Given the description of an element on the screen output the (x, y) to click on. 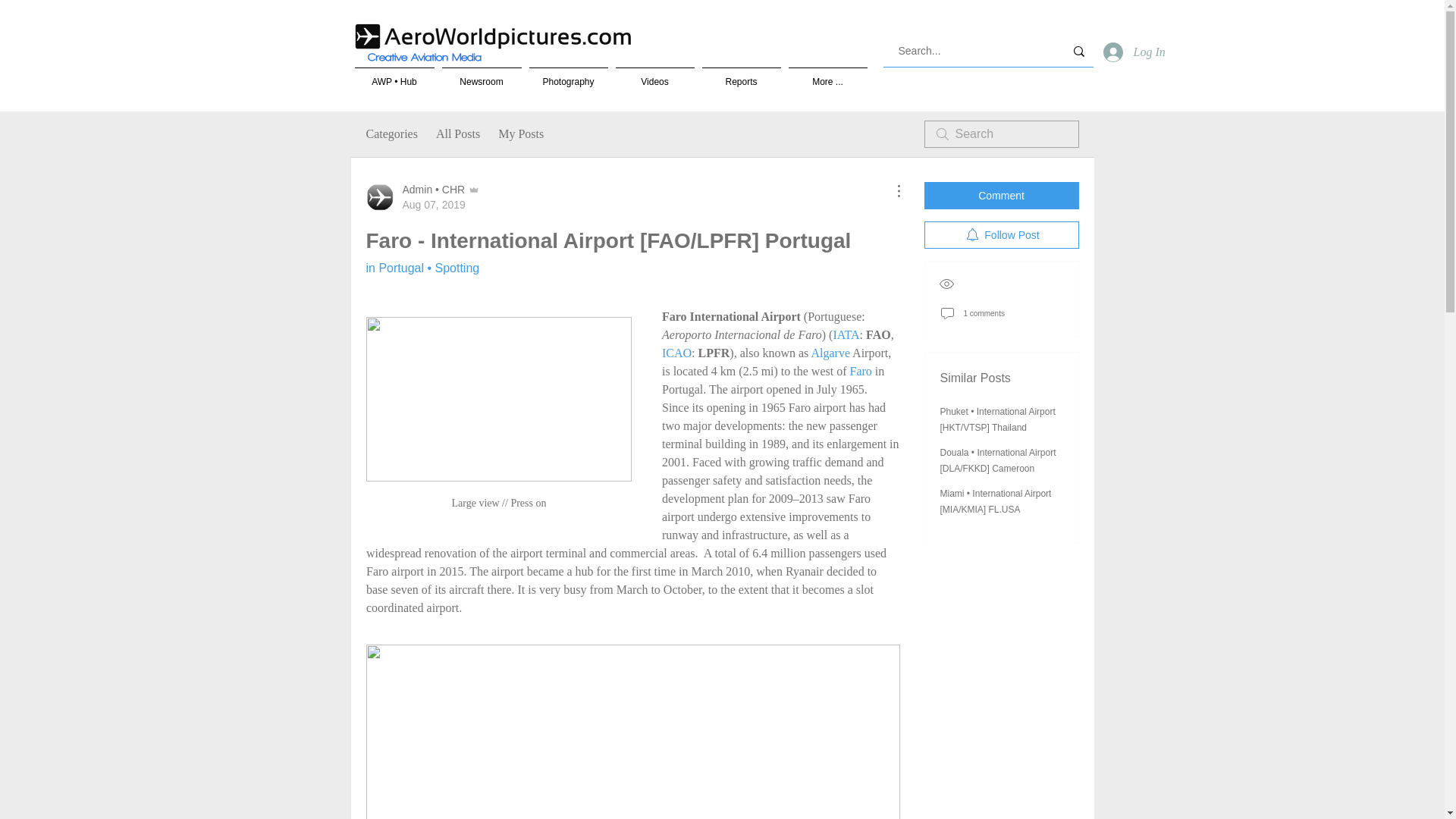
IATA (845, 334)
Photography (567, 74)
Newsroom (481, 74)
My Posts (520, 134)
Log In (1126, 51)
Videos (654, 74)
Categories (390, 134)
All Posts (457, 134)
